Given the description of an element on the screen output the (x, y) to click on. 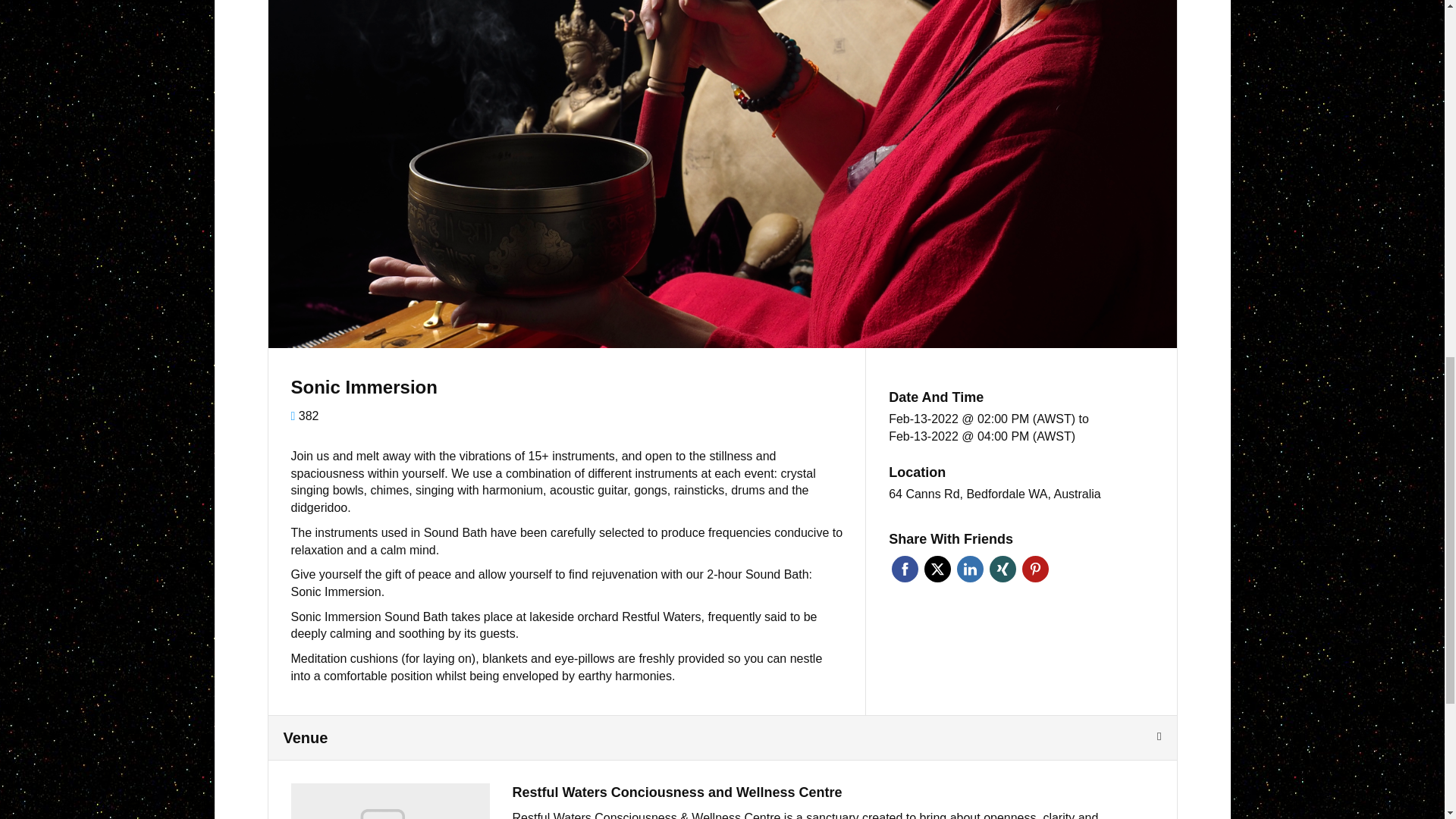
64 Canns Rd, Bedfordale WA, Australia (994, 494)
Share this page on Pinterest (1035, 569)
Twitter (937, 569)
Share this page on Twitter (937, 569)
Facebook (904, 569)
Share this page on Xing (1003, 569)
Share this page on Linkedin (970, 569)
Share this page on Facebook (904, 569)
